Given the description of an element on the screen output the (x, y) to click on. 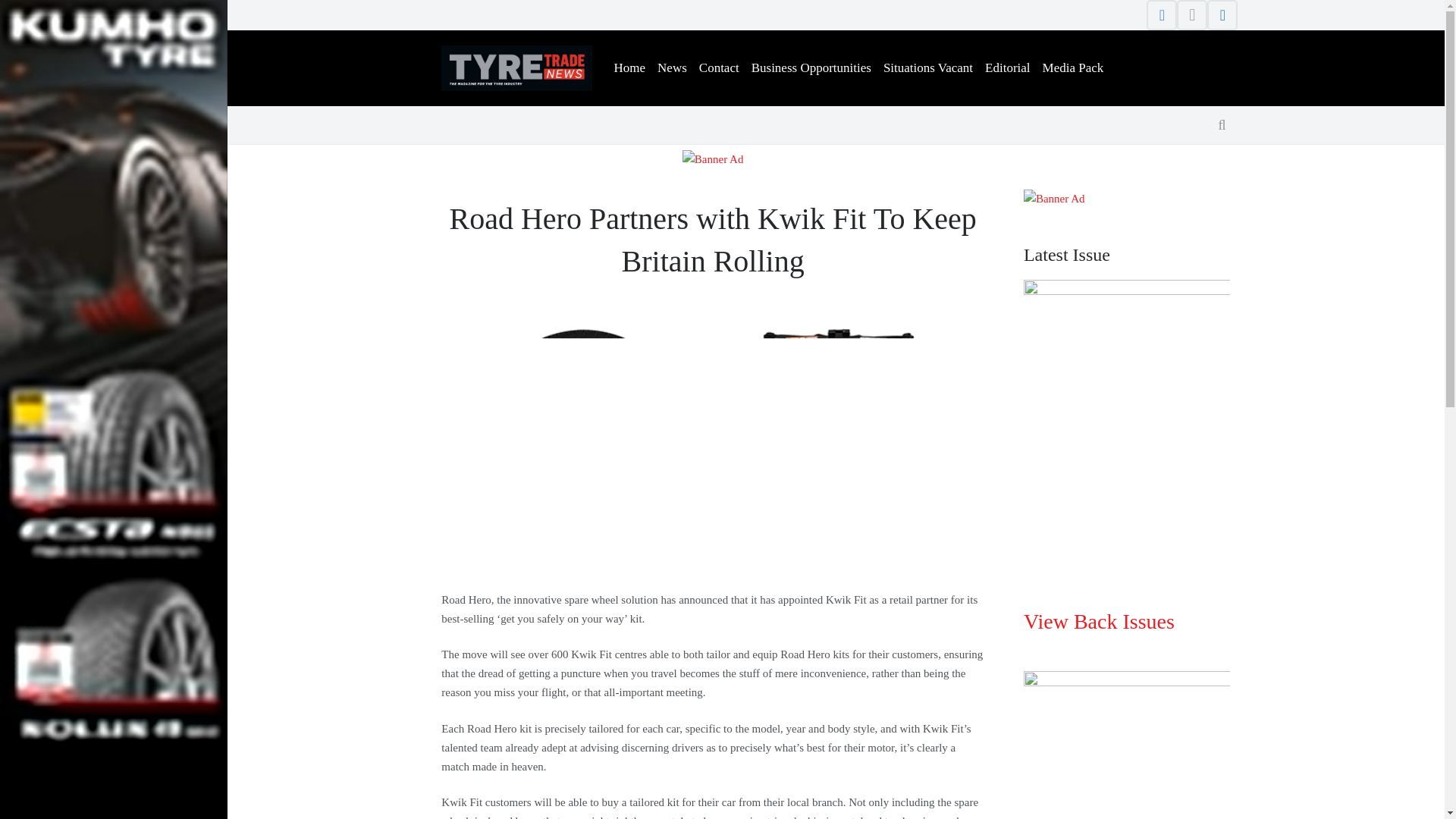
View Back Issues (1098, 621)
Facebook (1161, 15)
Instagram (1191, 15)
Media Pack (1072, 68)
LinkedIn (1222, 15)
Situations Vacant (927, 68)
Business Opportunities (811, 68)
